Given the description of an element on the screen output the (x, y) to click on. 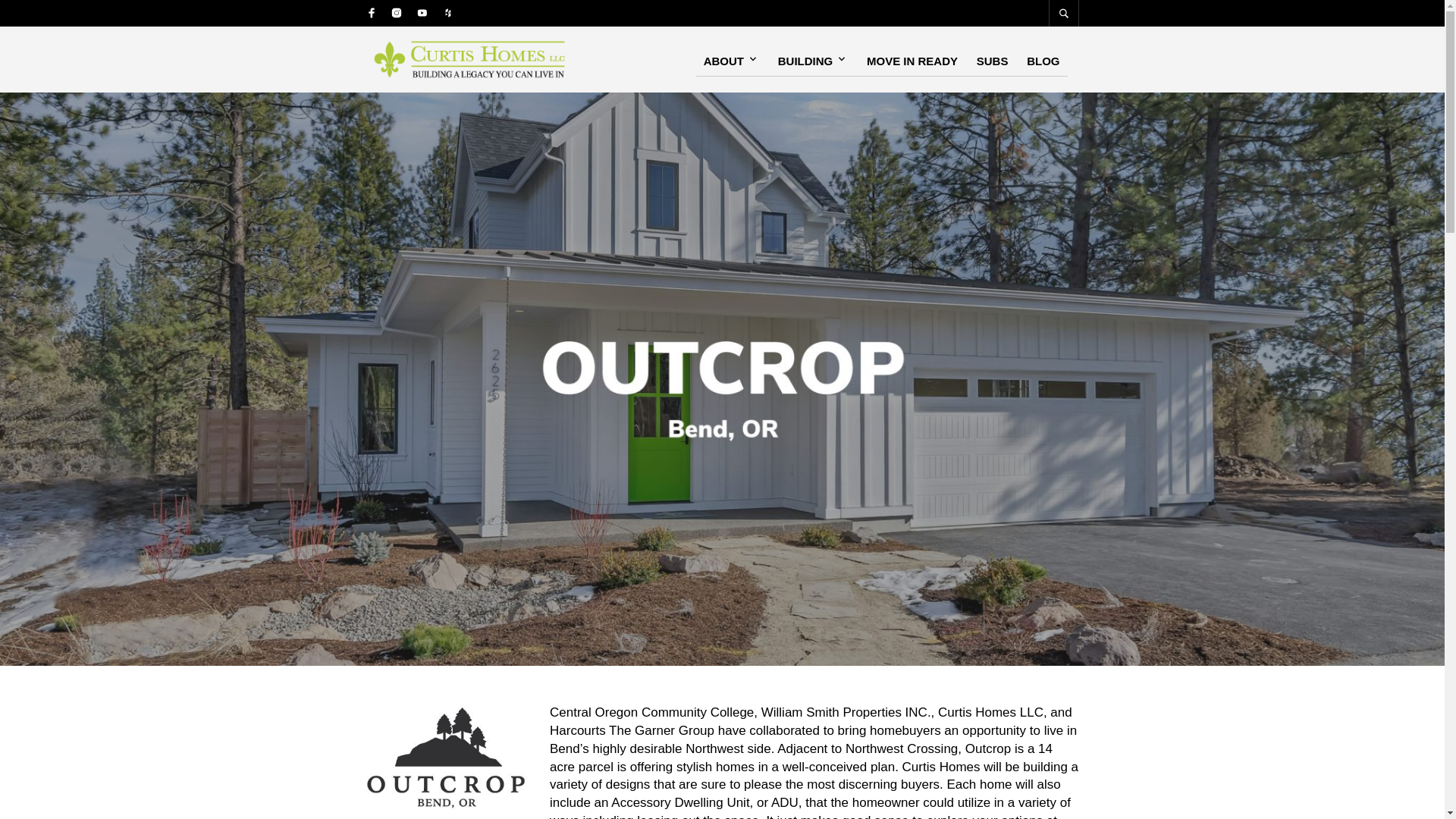
Page 1 (814, 761)
BUILDING (809, 60)
ABOUT (726, 60)
